Given the description of an element on the screen output the (x, y) to click on. 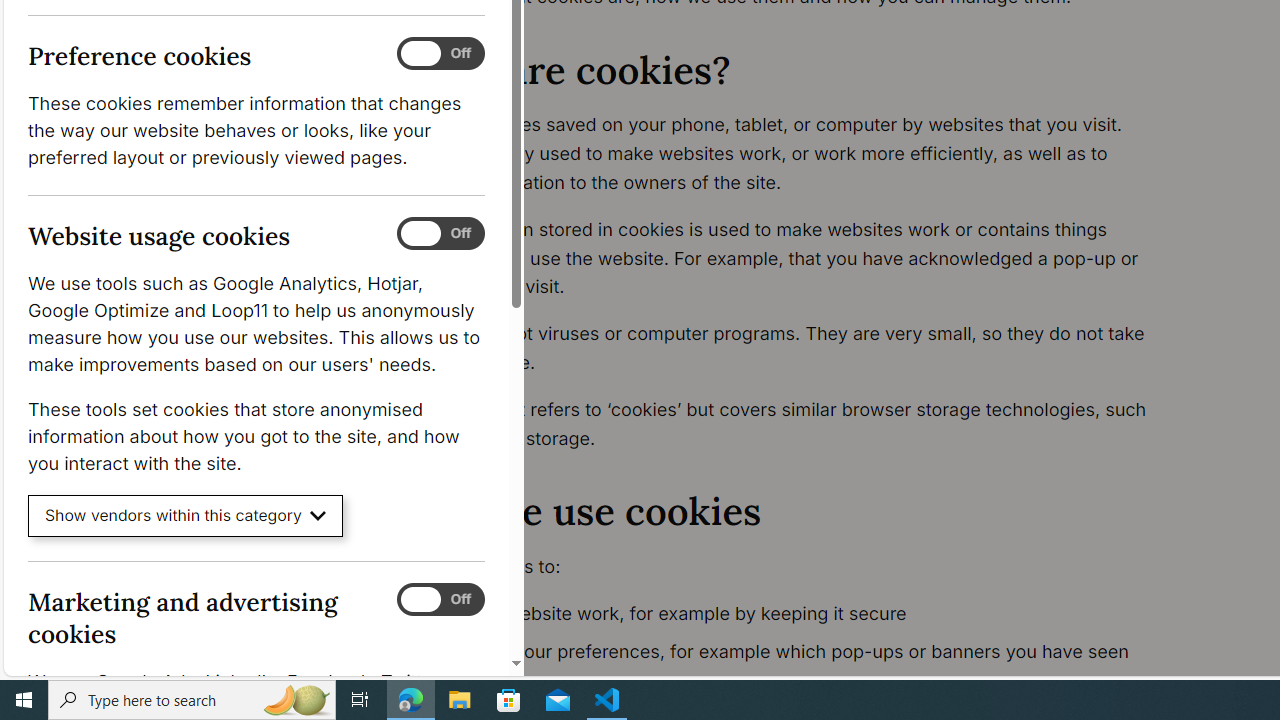
Marketing and advertising cookies (440, 599)
Preference cookies (440, 53)
make our website work, for example by keeping it secure (796, 614)
Show vendors within this category (185, 516)
Website usage cookies (440, 233)
